Given the description of an element on the screen output the (x, y) to click on. 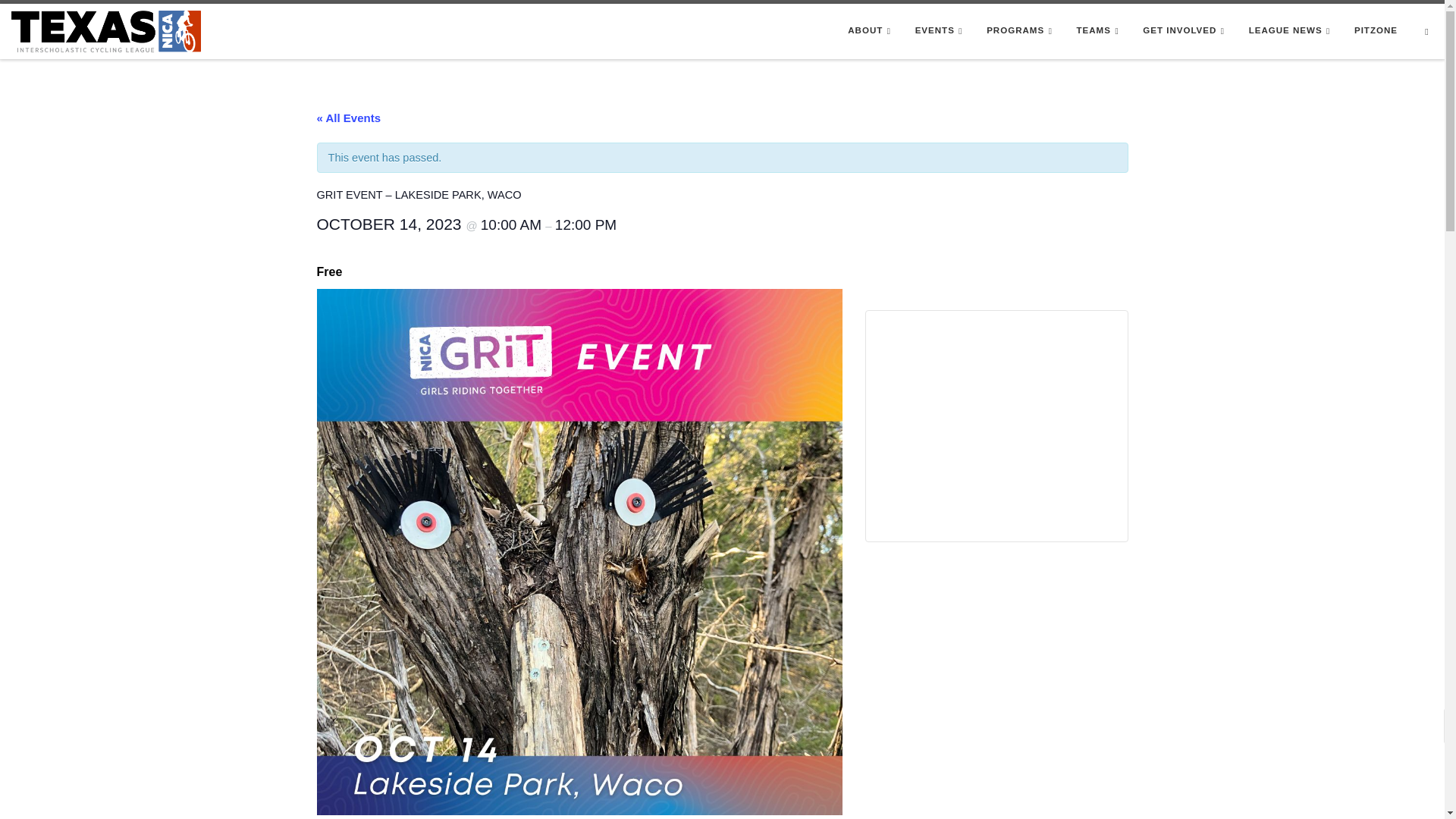
Skip to content (53, 19)
EVENTS (941, 30)
PROGRAMS (1021, 30)
LEAGUE NEWS (1291, 30)
ABOUT (872, 30)
GET INVOLVED (1186, 30)
TEAMS (1099, 30)
